Given the description of an element on the screen output the (x, y) to click on. 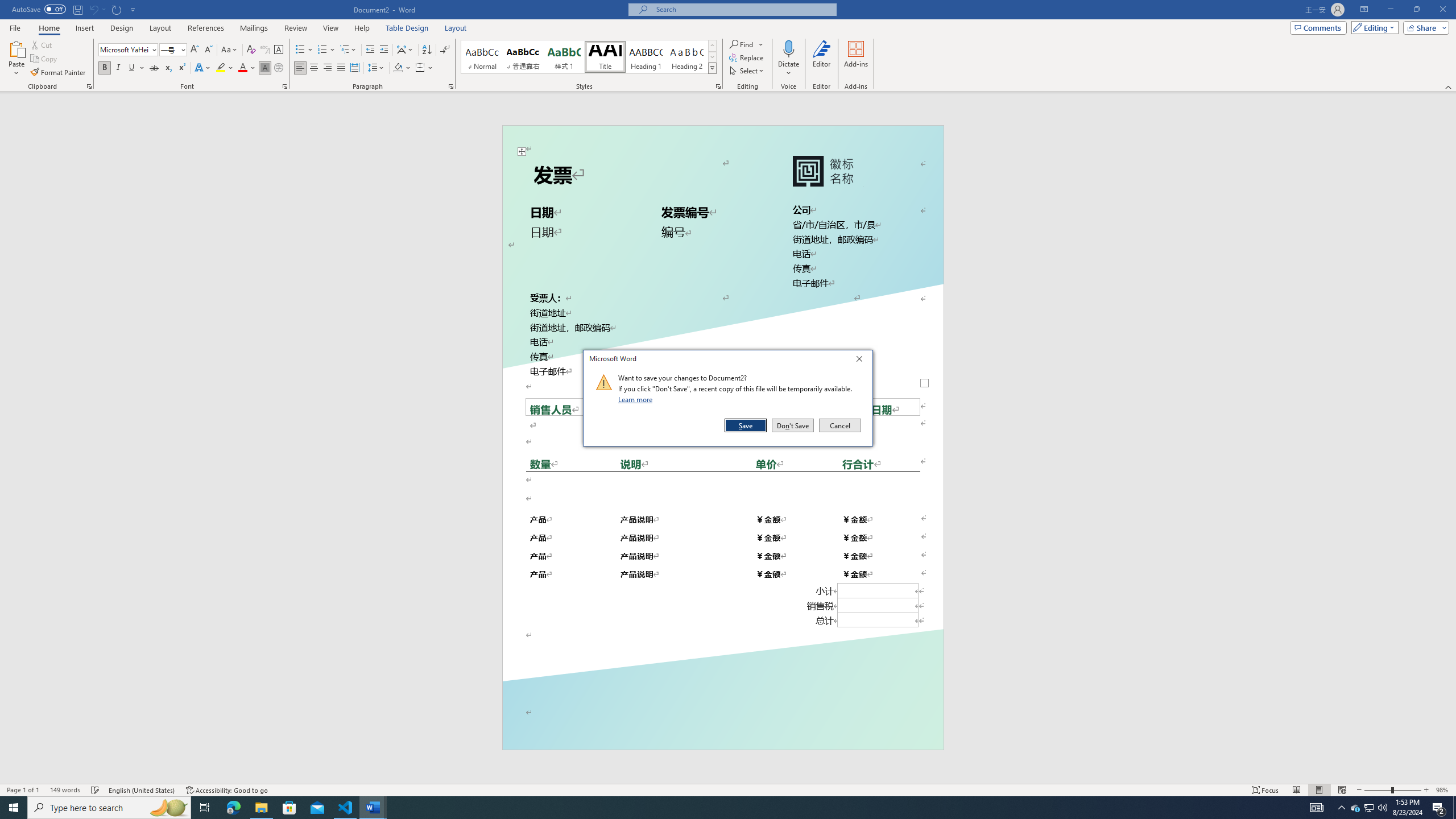
Can't Undo (92, 9)
Heading 2 (686, 56)
AutomationID: QuickStylesGallery (588, 56)
File Explorer - 1 running window (261, 807)
